Given the description of an element on the screen output the (x, y) to click on. 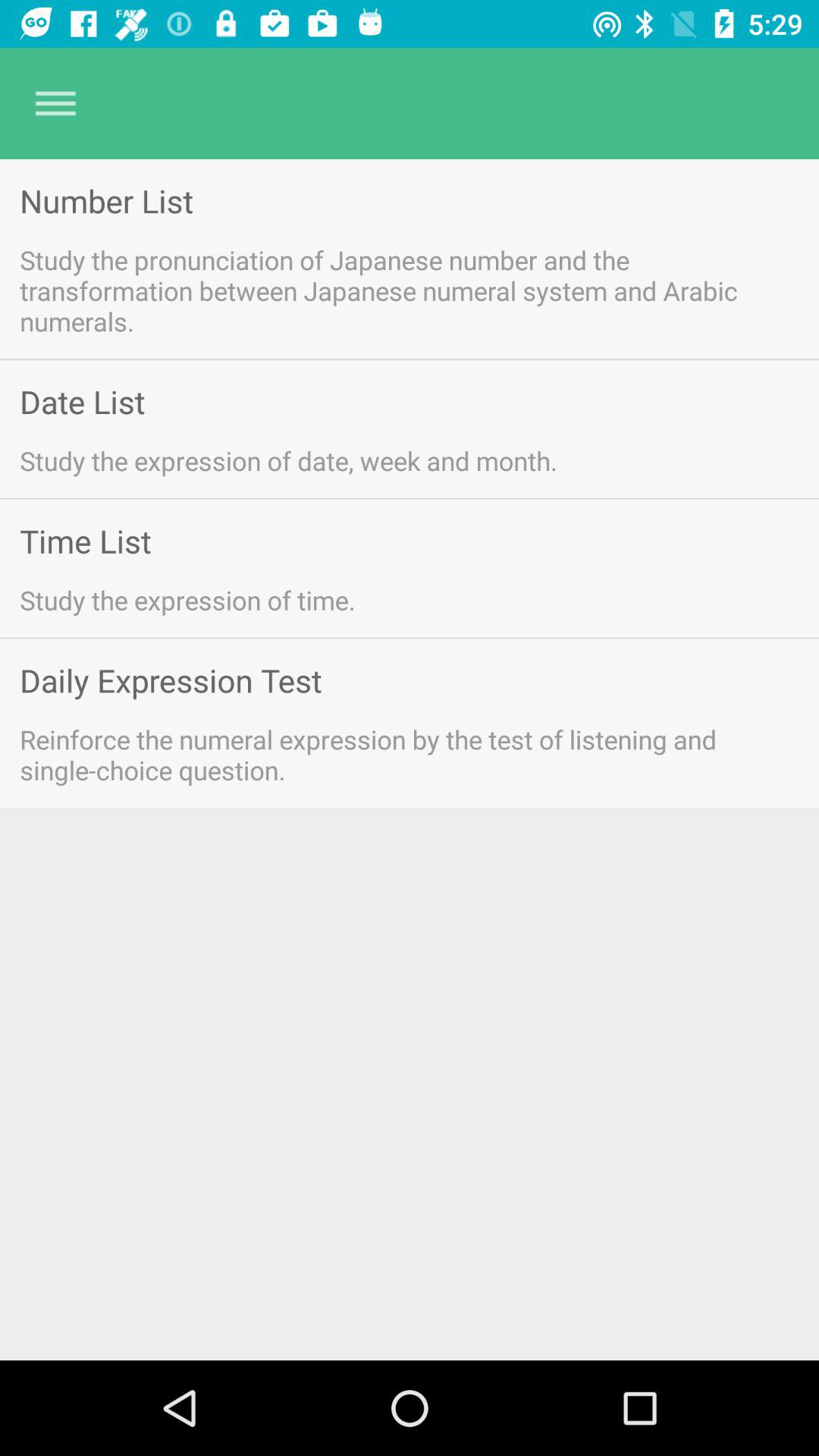
choose the item below study the expression icon (85, 540)
